Given the description of an element on the screen output the (x, y) to click on. 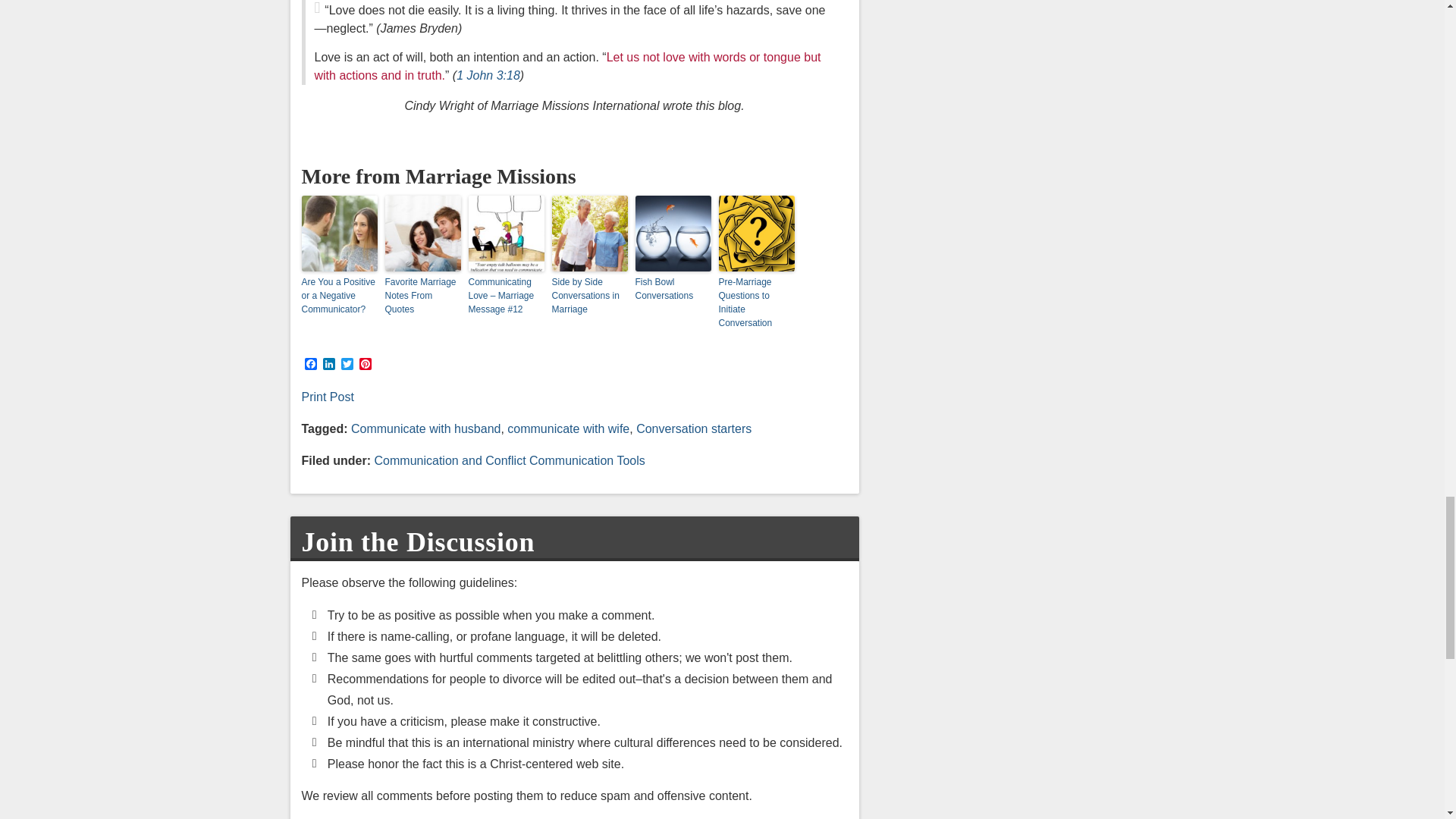
Facebook (310, 364)
LinkedIn (328, 364)
Pinterest (365, 364)
Twitter (346, 364)
